Given the description of an element on the screen output the (x, y) to click on. 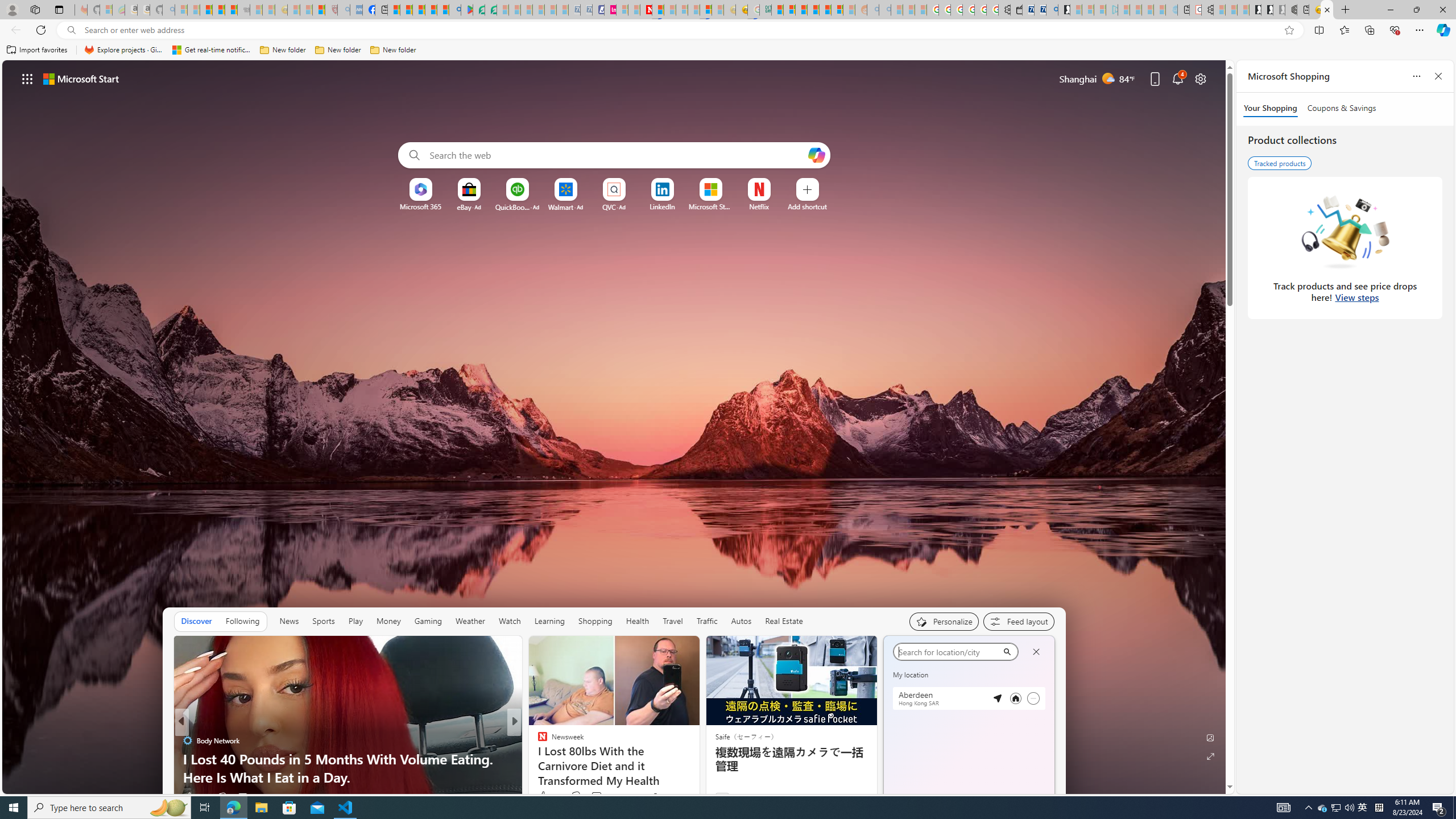
The Weather Channel - MSN (205, 9)
Mostly sunny (999, 742)
Expert Portfolios (813, 9)
Import favorites (36, 49)
Search icon (70, 29)
Real Estate (783, 621)
